Given the description of an element on the screen output the (x, y) to click on. 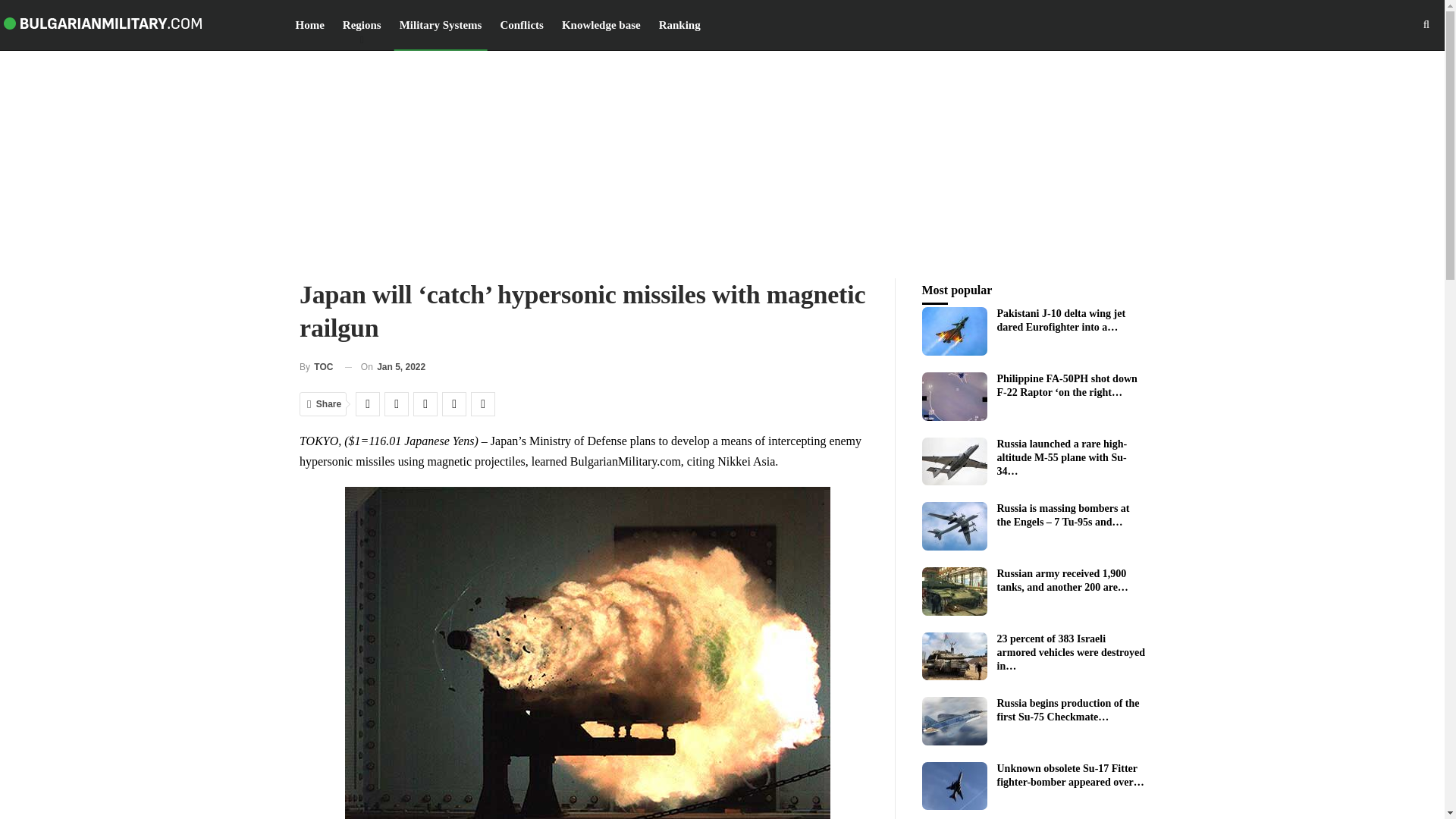
Conflicts (521, 24)
Knowledge base (601, 24)
Military Systems (440, 24)
By TOC (316, 367)
Ranking (679, 24)
Browse Author Articles (316, 367)
Regions (362, 24)
